Given the description of an element on the screen output the (x, y) to click on. 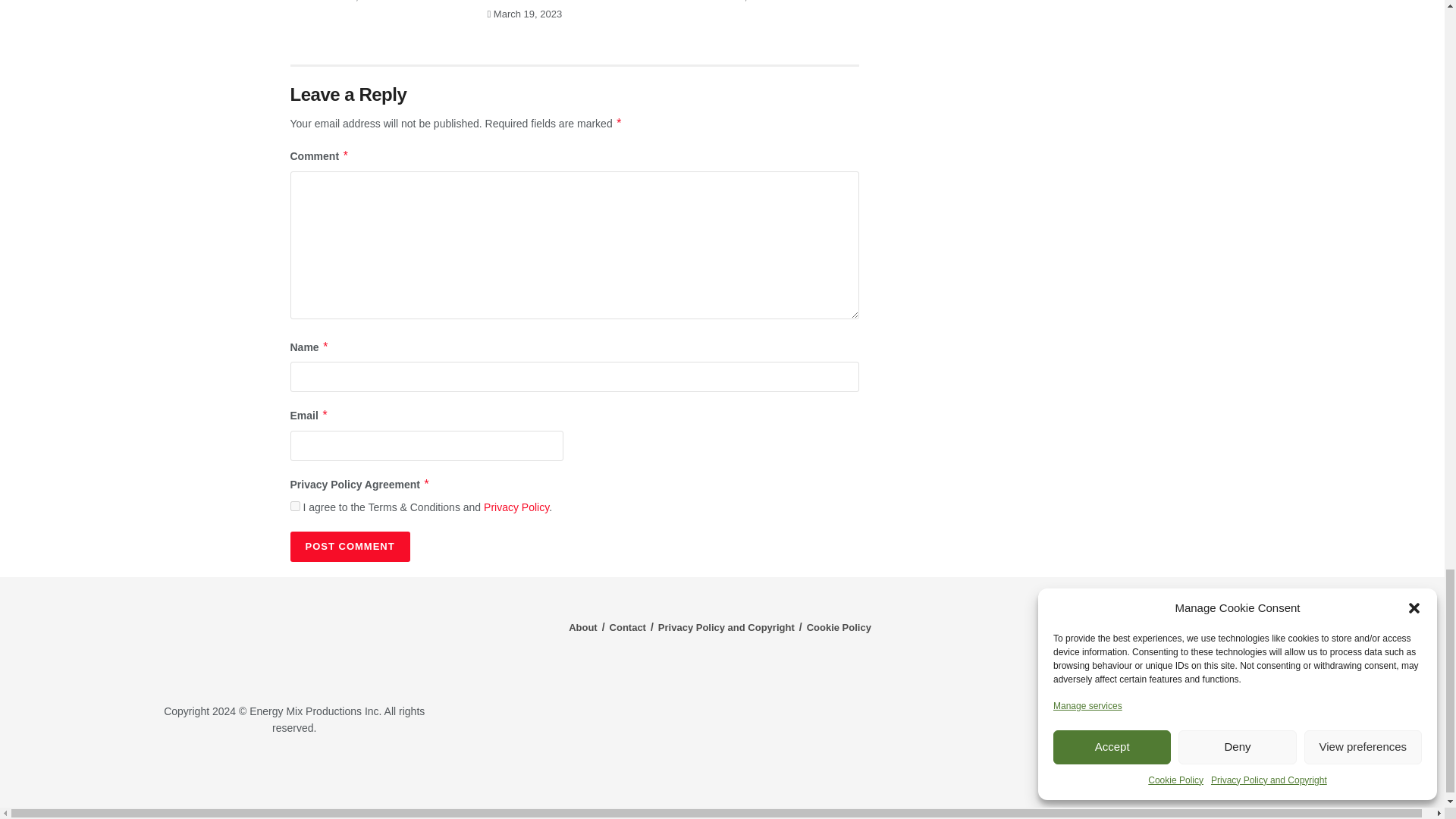
on (294, 506)
tem-logo-2024 (294, 641)
Climate-and-Capital (1221, 772)
Post Comment (349, 546)
